Given the description of an element on the screen output the (x, y) to click on. 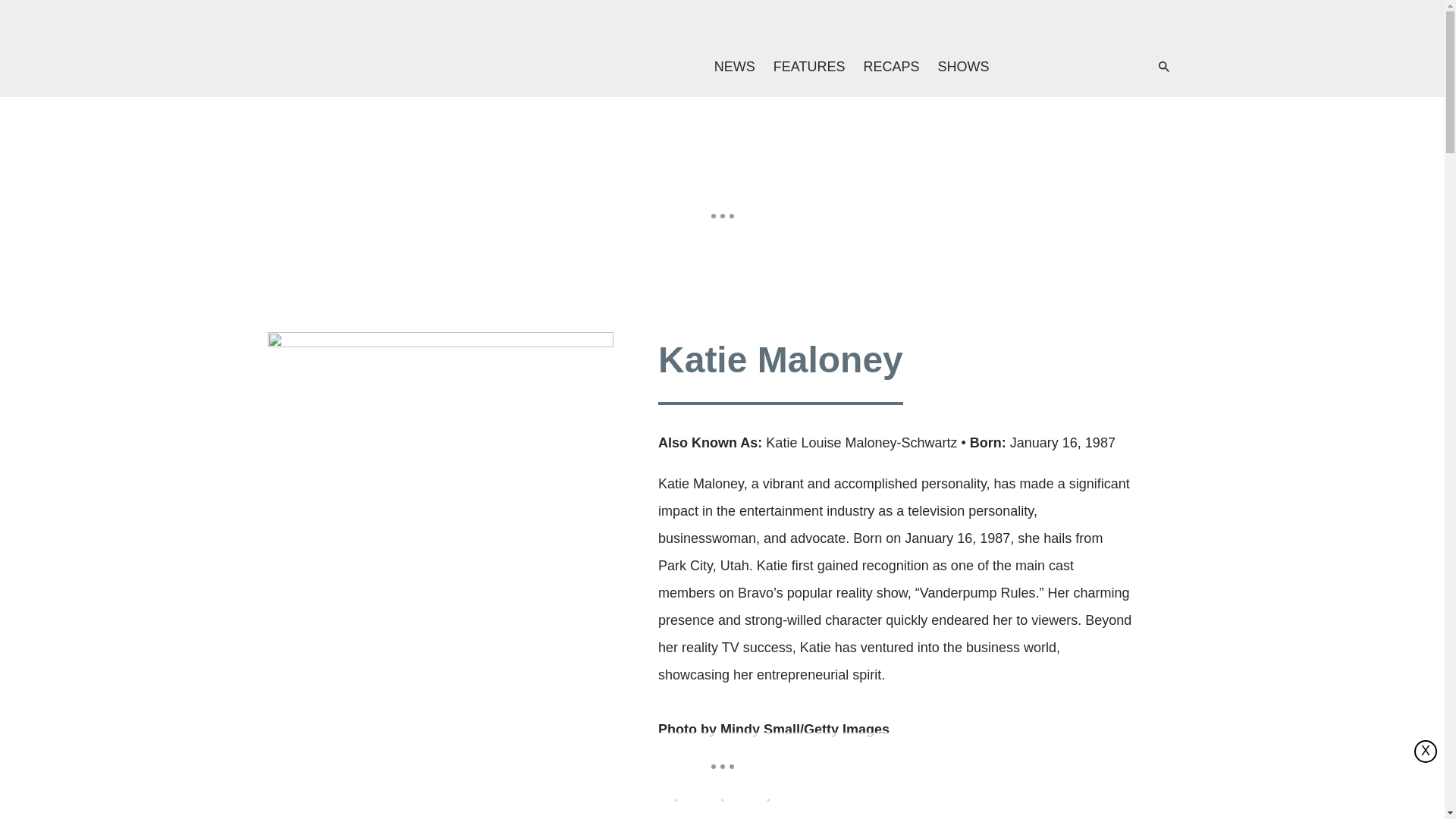
Facebook (1048, 66)
RECAPS (890, 66)
Twitter (1079, 66)
SHOWS (962, 66)
TikTok (1021, 372)
Instagram (978, 372)
FEATURES (809, 66)
Pinterest (1109, 66)
NEWS (734, 66)
Twitter (936, 372)
